Given the description of an element on the screen output the (x, y) to click on. 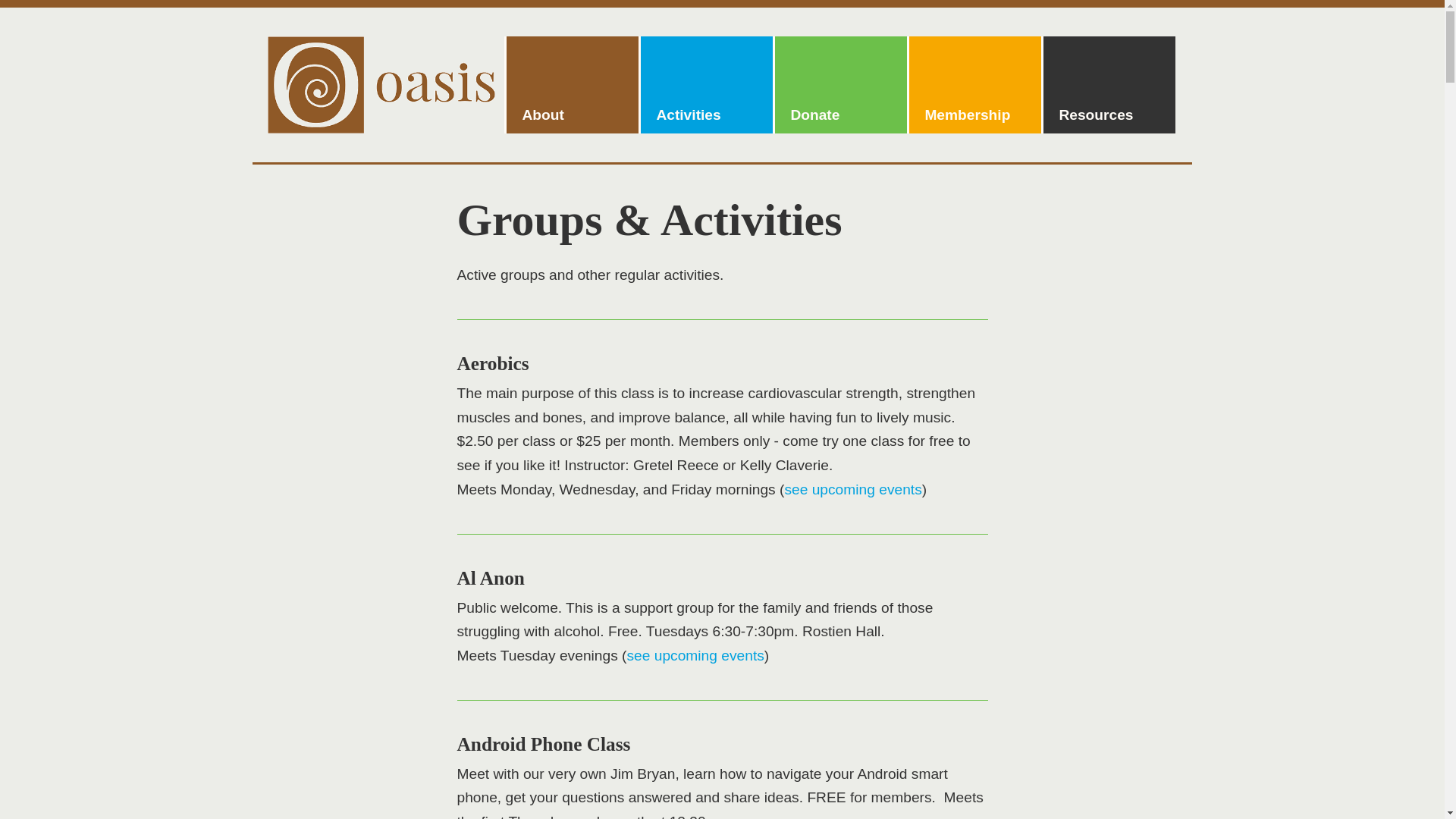
see upcoming events (694, 655)
see upcoming events (852, 489)
About (572, 84)
Membership (974, 84)
Activities (705, 84)
Resources (1108, 84)
Donate (840, 84)
